Given the description of an element on the screen output the (x, y) to click on. 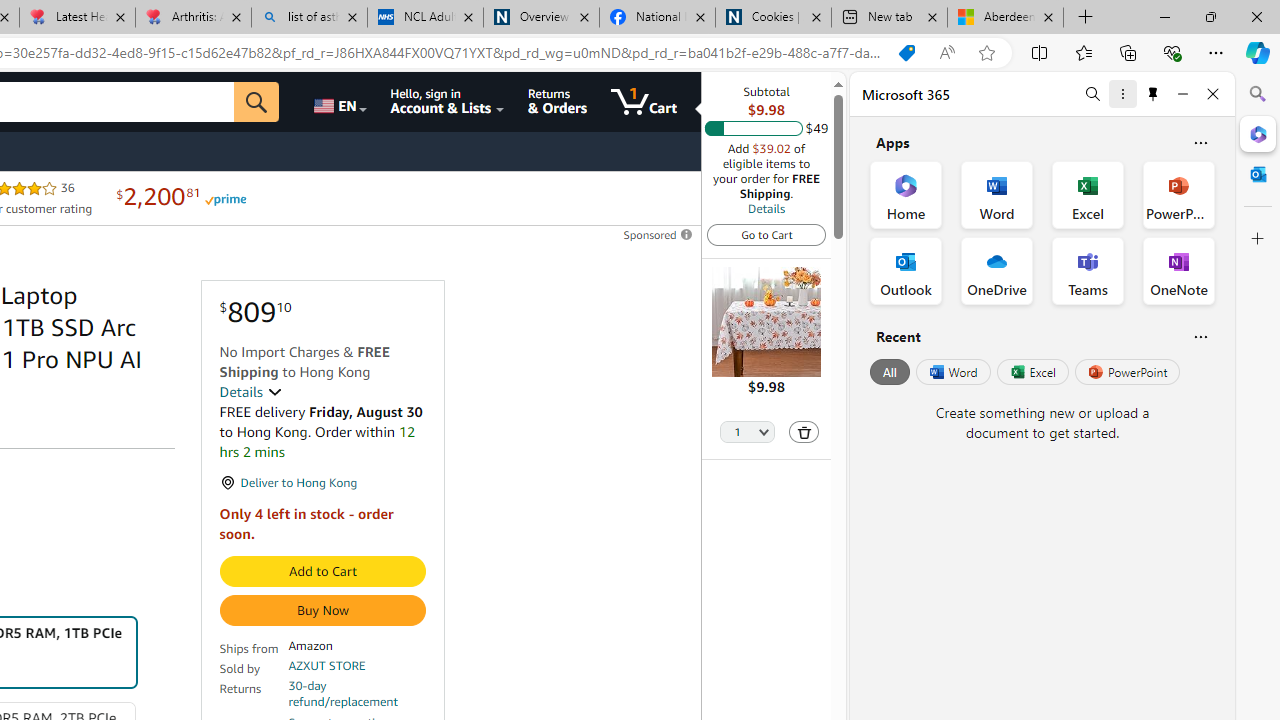
Details (765, 208)
Excel (1031, 372)
Quantity Selector (747, 433)
Home Office App (906, 194)
Cookies | About | NICE (772, 17)
OneDrive Office App (996, 270)
Delete (804, 431)
Outlook Office App (906, 270)
